Given the description of an element on the screen output the (x, y) to click on. 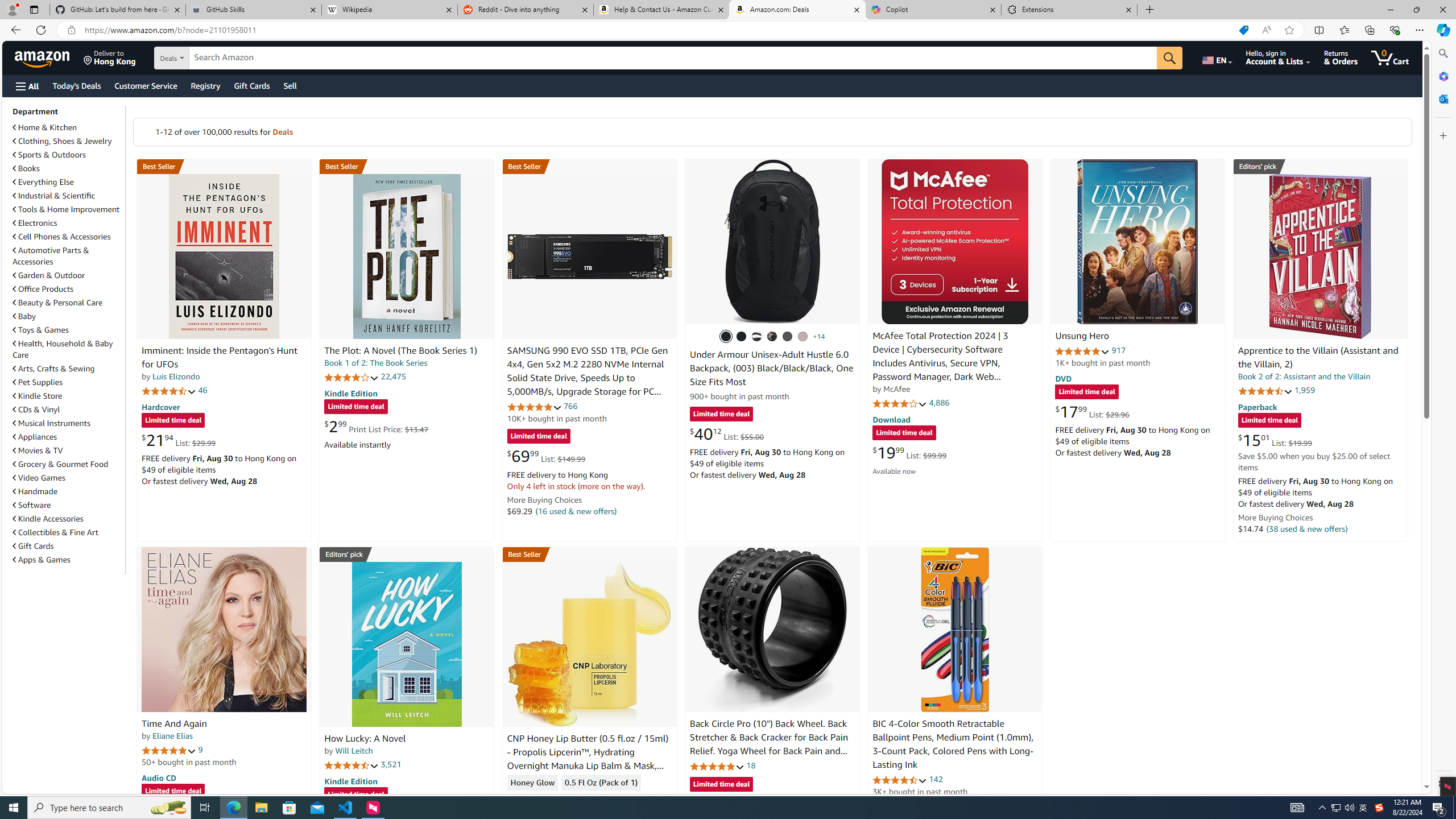
Grocery & Gourmet Food (61, 463)
(015) Tetra Gray / Tetra Gray / Gray Matter (802, 336)
Limited time deal (721, 784)
Amazon.com: Deals (797, 9)
How Lucky: A Novel (365, 738)
Industrial & Scientific (67, 195)
Imminent: Inside the Pentagon's Hunt for UFOs (223, 256)
Best Seller in Heist Thrillers (406, 165)
Books (26, 167)
Sports & Outdoors (67, 154)
1,959 (1305, 390)
(38 used & new offers) (1307, 528)
(003) Black / Black / Black (725, 336)
